Given the description of an element on the screen output the (x, y) to click on. 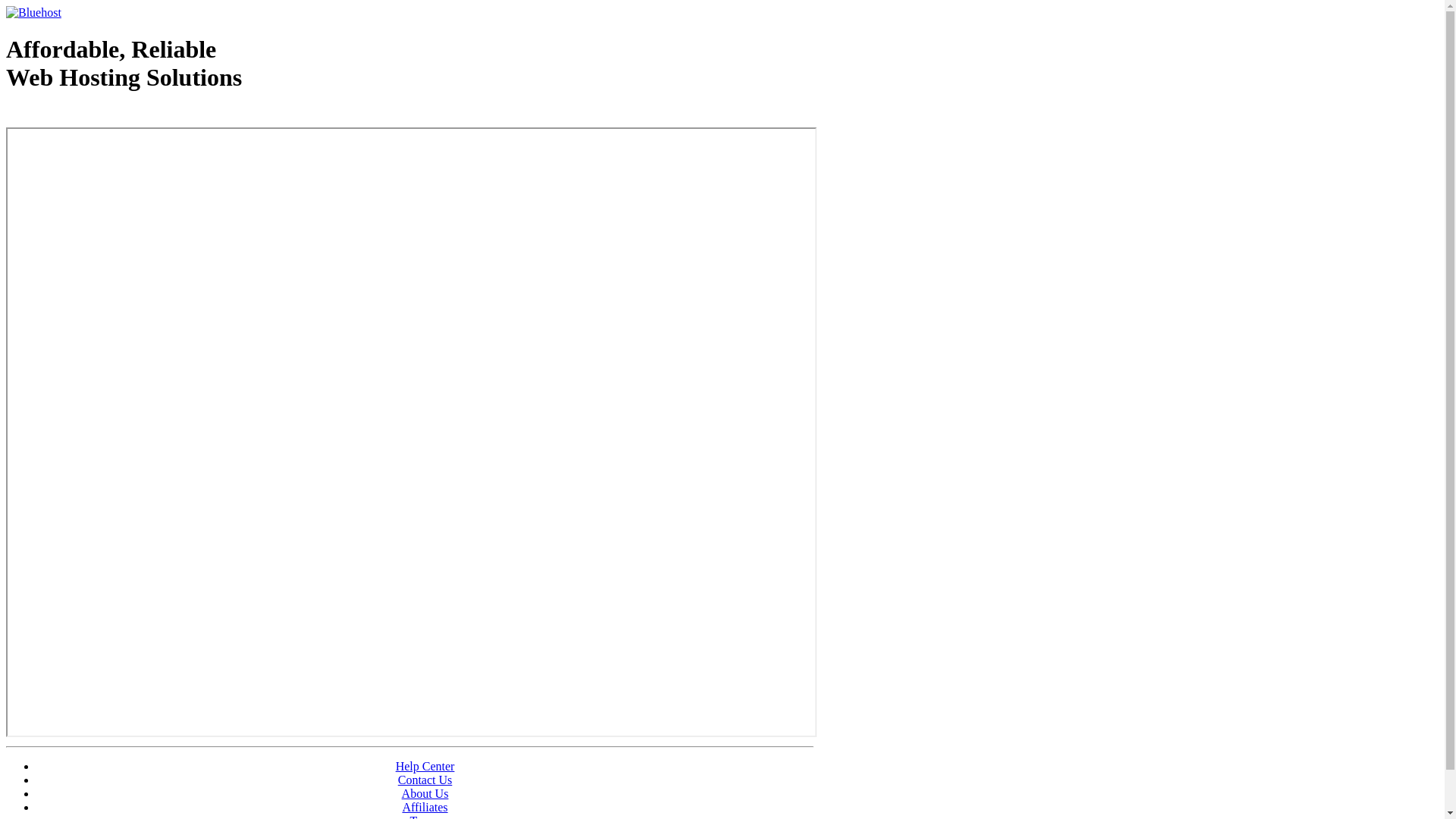
About Us Element type: text (424, 793)
Web Hosting - courtesy of www.bluehost.com Element type: text (94, 115)
Affiliates Element type: text (424, 806)
Help Center Element type: text (425, 765)
Contact Us Element type: text (425, 779)
